Given the description of an element on the screen output the (x, y) to click on. 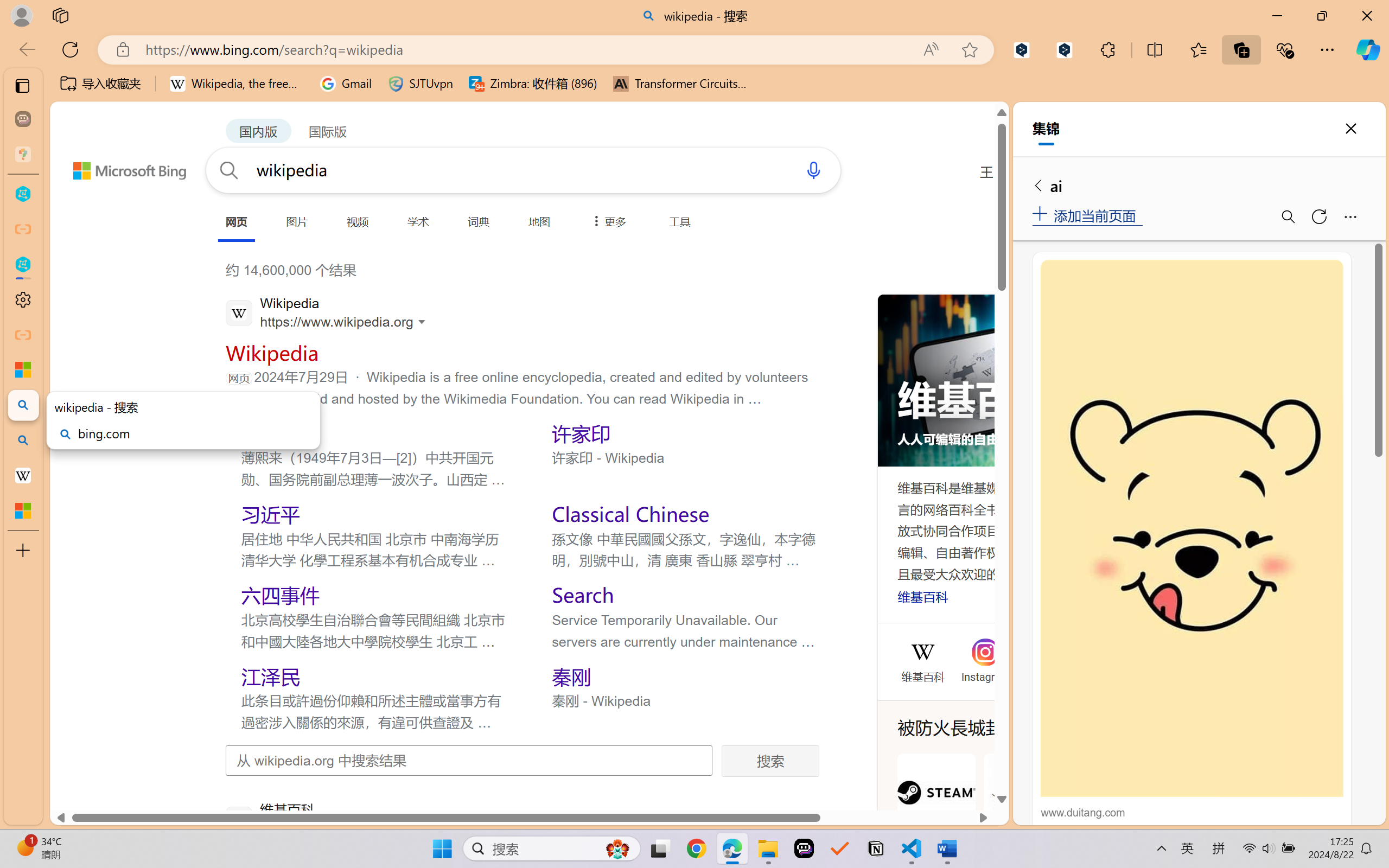
Microsoft security help and learning (22, 369)
